Given the description of an element on the screen output the (x, y) to click on. 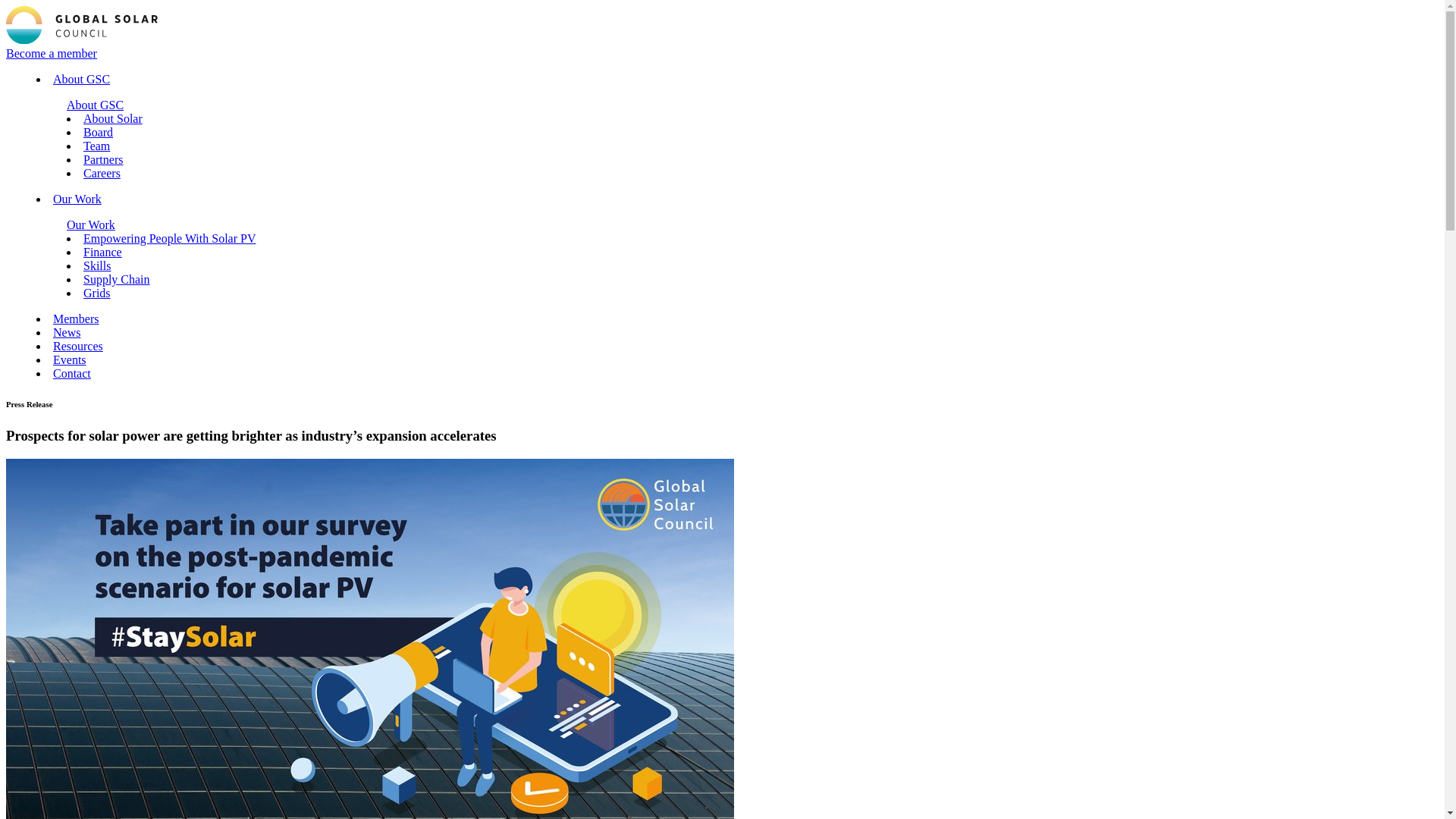
Events (68, 359)
Skills (96, 265)
Our Work (76, 198)
News (66, 332)
About Solar (112, 118)
Careers (101, 173)
Members (75, 318)
Team (96, 145)
Our Work (90, 224)
Board (97, 132)
Supply Chain (115, 278)
Resources (77, 345)
Contact (71, 373)
About GSC (94, 104)
Empowering People With Solar PV (169, 237)
